Given the description of an element on the screen output the (x, y) to click on. 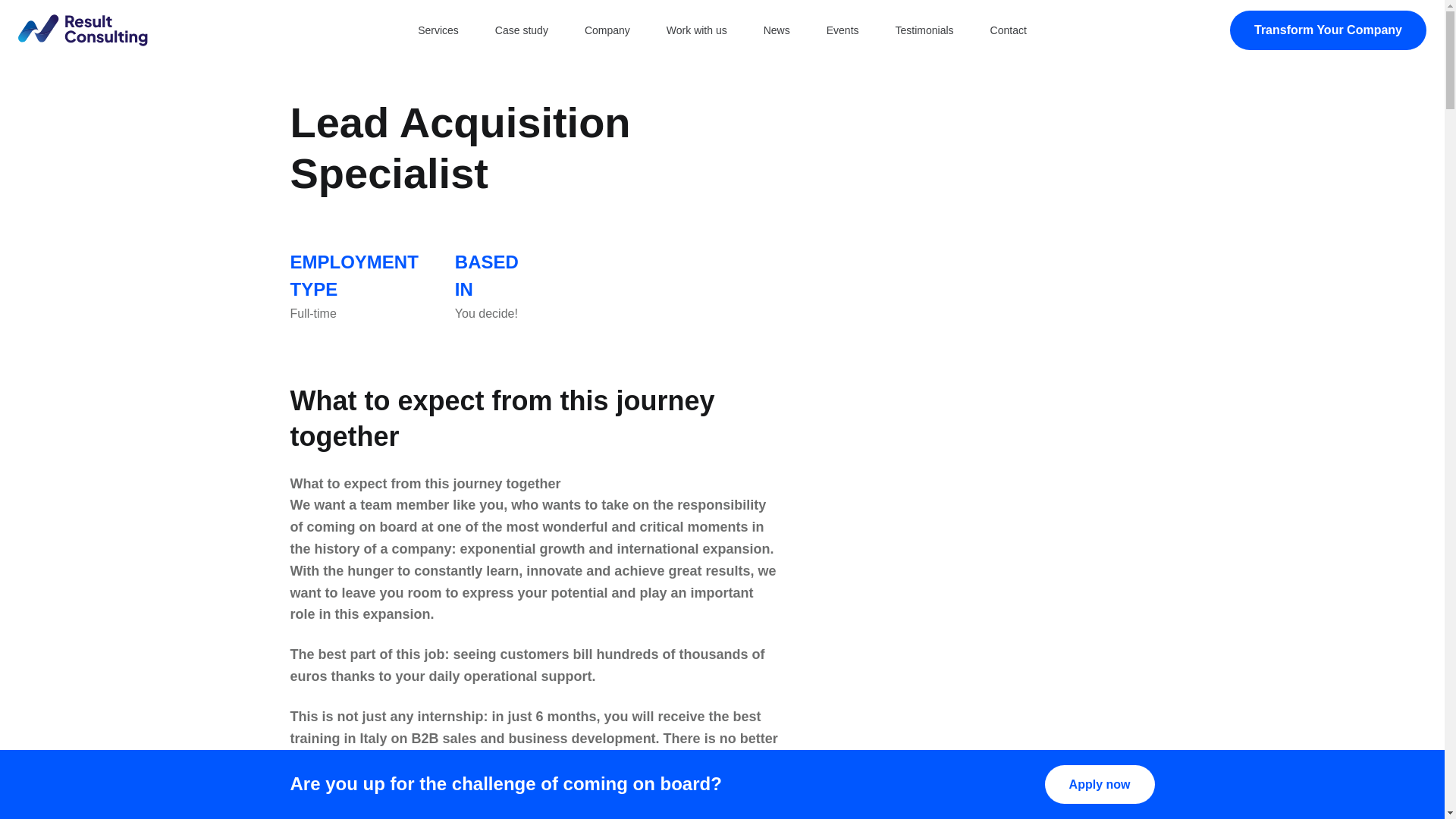
Privacy and cookie policy (564, 635)
News (776, 30)
Services (437, 30)
Company (606, 30)
Testimonials (924, 30)
Case study (521, 30)
Apply now (1099, 783)
Events (842, 30)
Transform Your Company (1328, 29)
Contact (1008, 30)
